Given the description of an element on the screen output the (x, y) to click on. 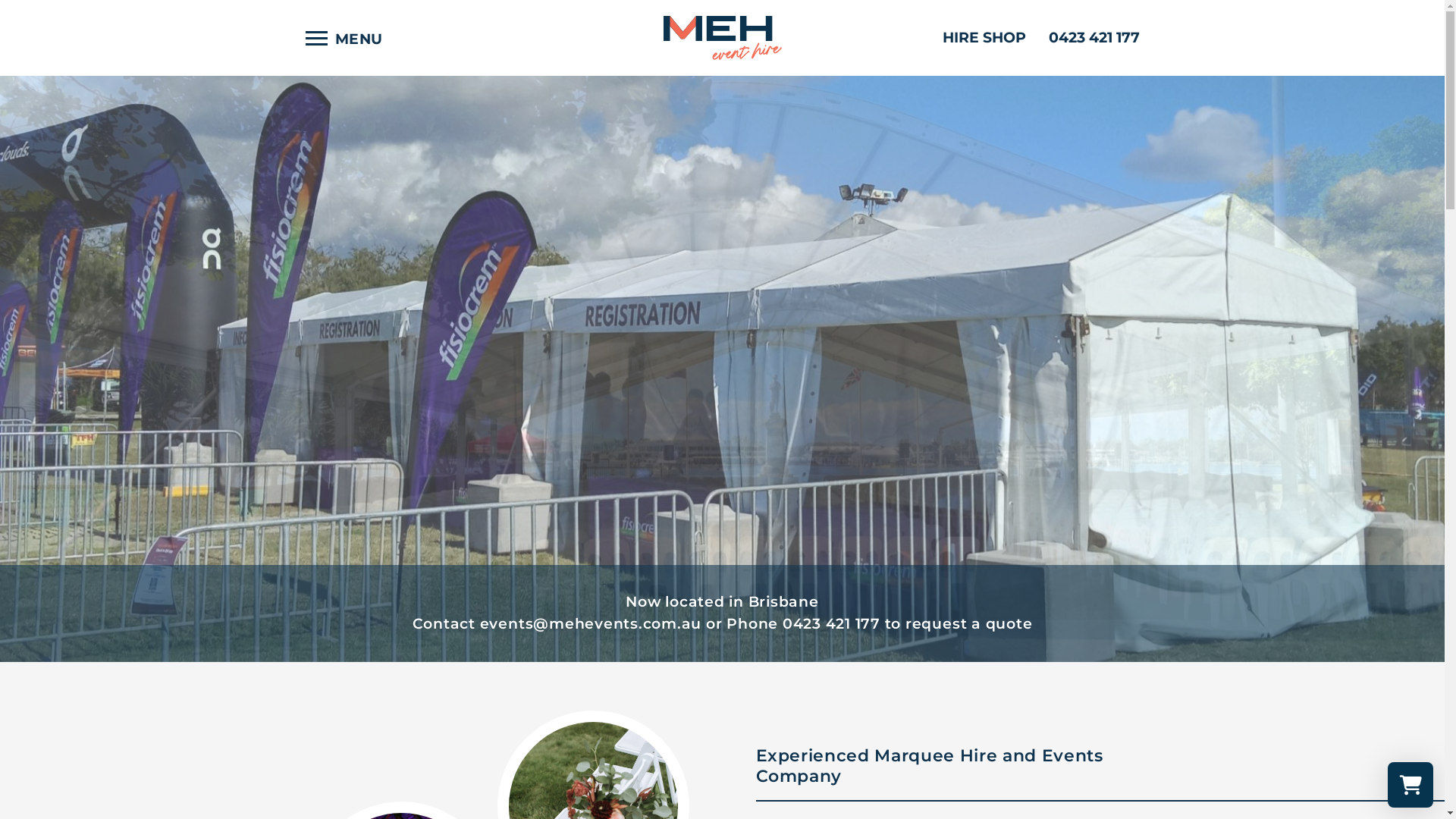
HIRE SHOP Element type: text (983, 37)
0423 421 177 Element type: text (831, 623)
0423 421 177 Element type: text (1093, 38)
